Given the description of an element on the screen output the (x, y) to click on. 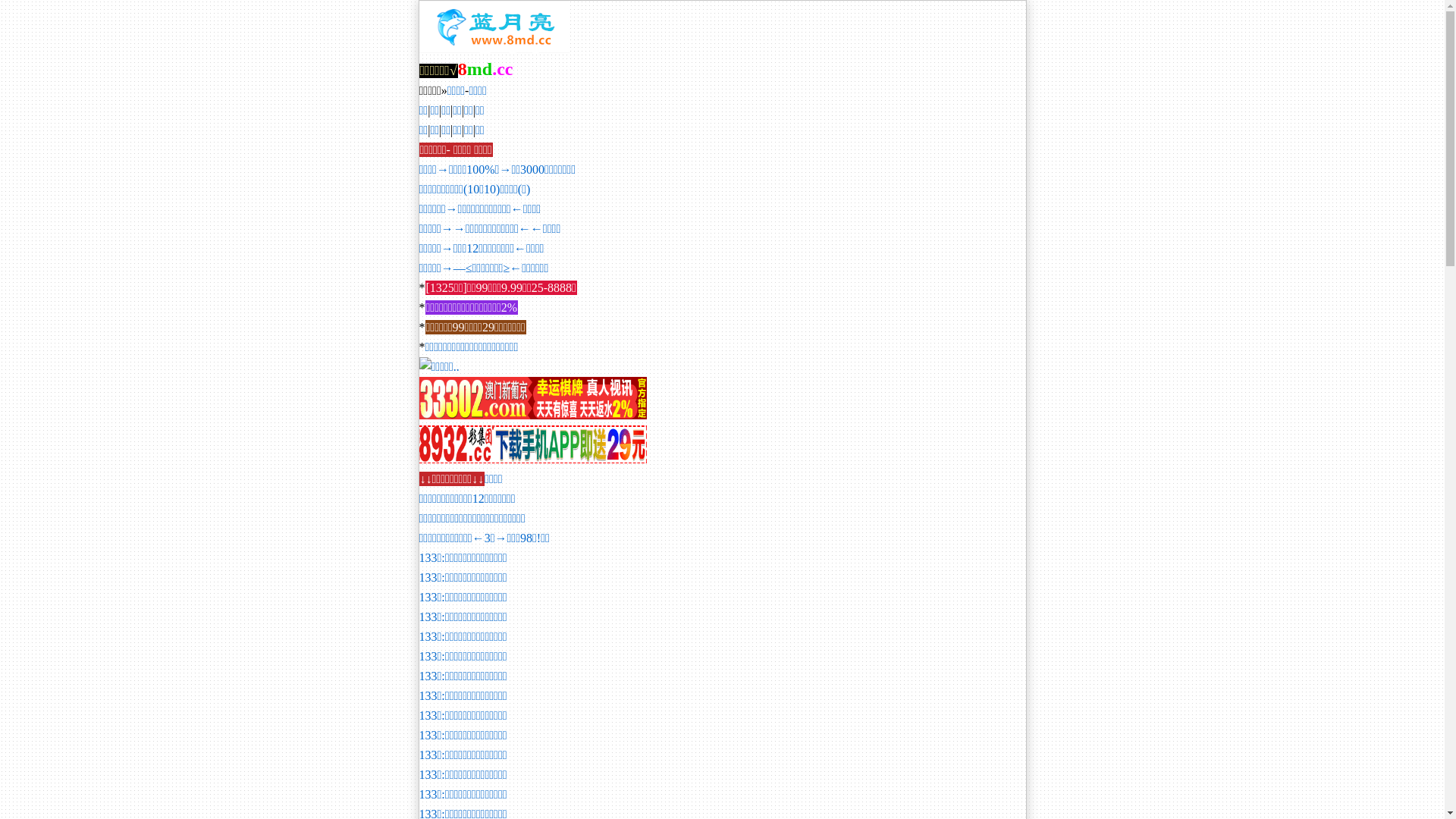
8md.cc Element type: text (485, 70)
